Given the description of an element on the screen output the (x, y) to click on. 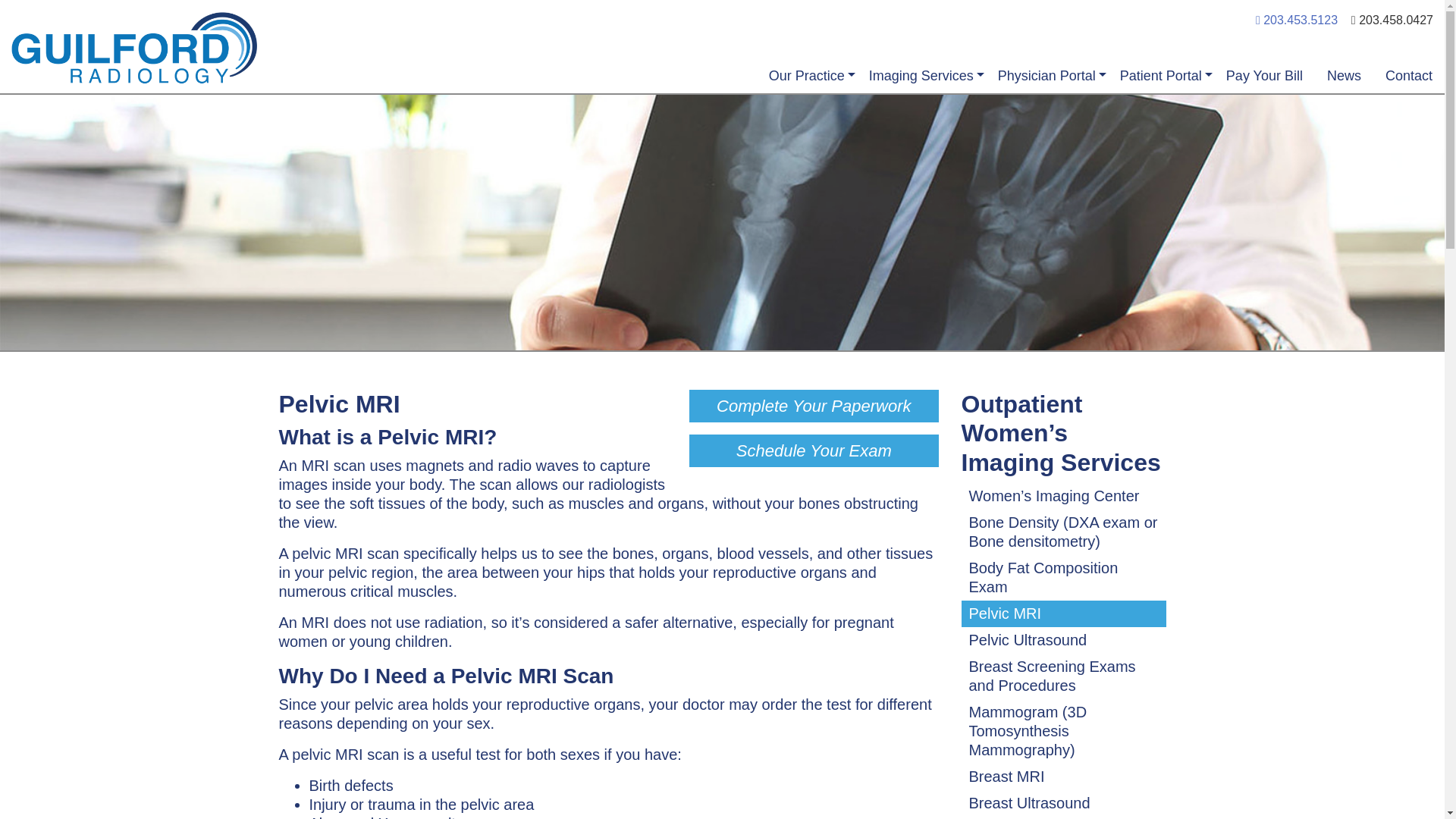
Our Team (745, 100)
Imaging Services (921, 75)
Patient Forms (1112, 100)
Notice of Privacy (1122, 100)
Patient Portal (1161, 75)
Information About Your Exam (1141, 112)
Our Vision (747, 100)
Radiation Safety (1120, 100)
Our Practice (807, 75)
203.453.5123 (1296, 20)
Our History (750, 100)
Guilford Radiology (366, 48)
Physician Portal (1046, 75)
Schedule Your Exam (812, 450)
Our Mission (752, 100)
